Given the description of an element on the screen output the (x, y) to click on. 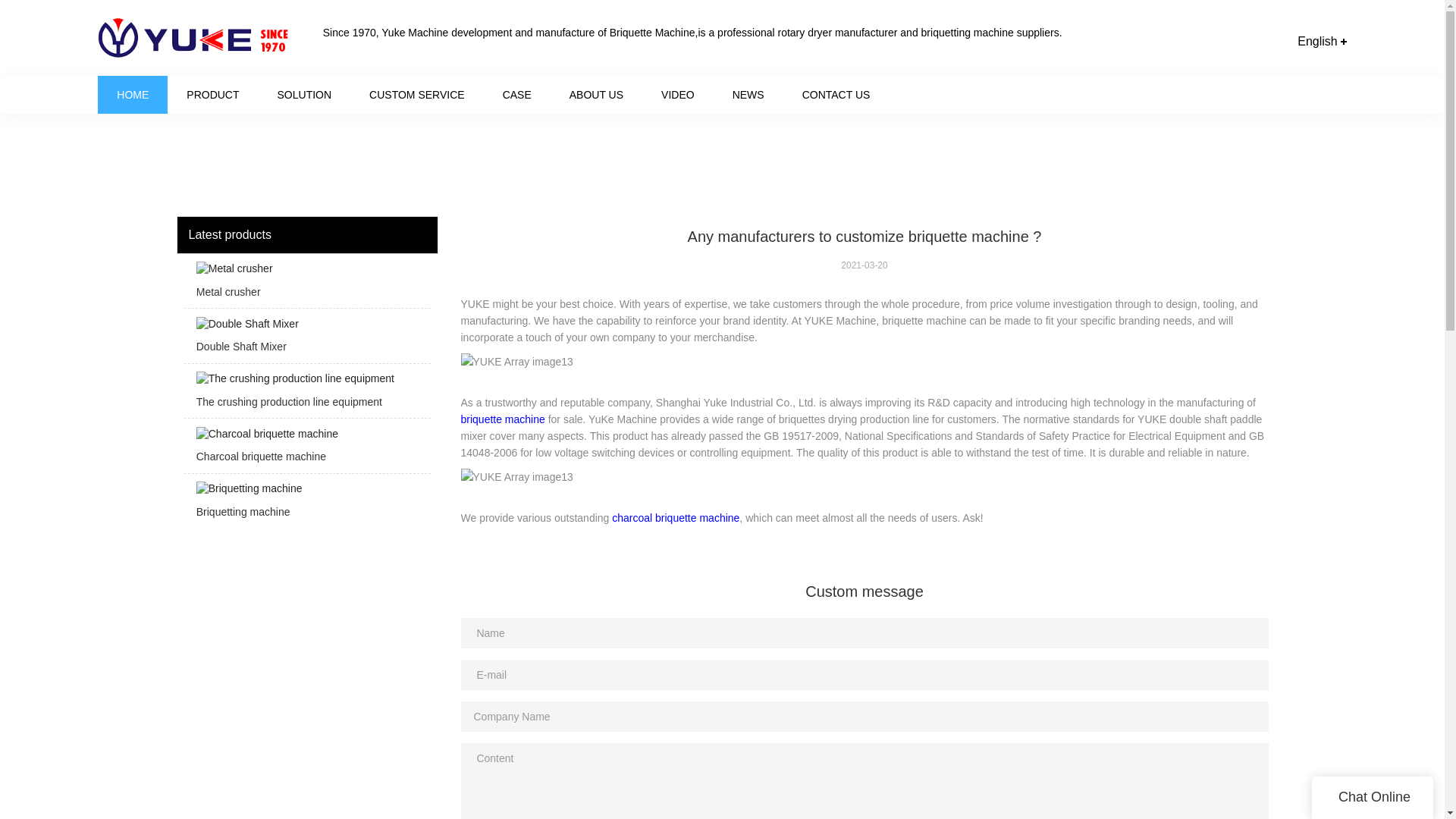
Charcoal briquette machine (306, 449)
charcoal briquette machine (675, 517)
Double Shaft Mixer (306, 339)
ABOUT US (596, 94)
NEWS (748, 94)
HOME (132, 94)
CASE (516, 94)
SOLUTION (304, 94)
Metal crusher (306, 284)
Briquetting machine (306, 504)
